Given the description of an element on the screen output the (x, y) to click on. 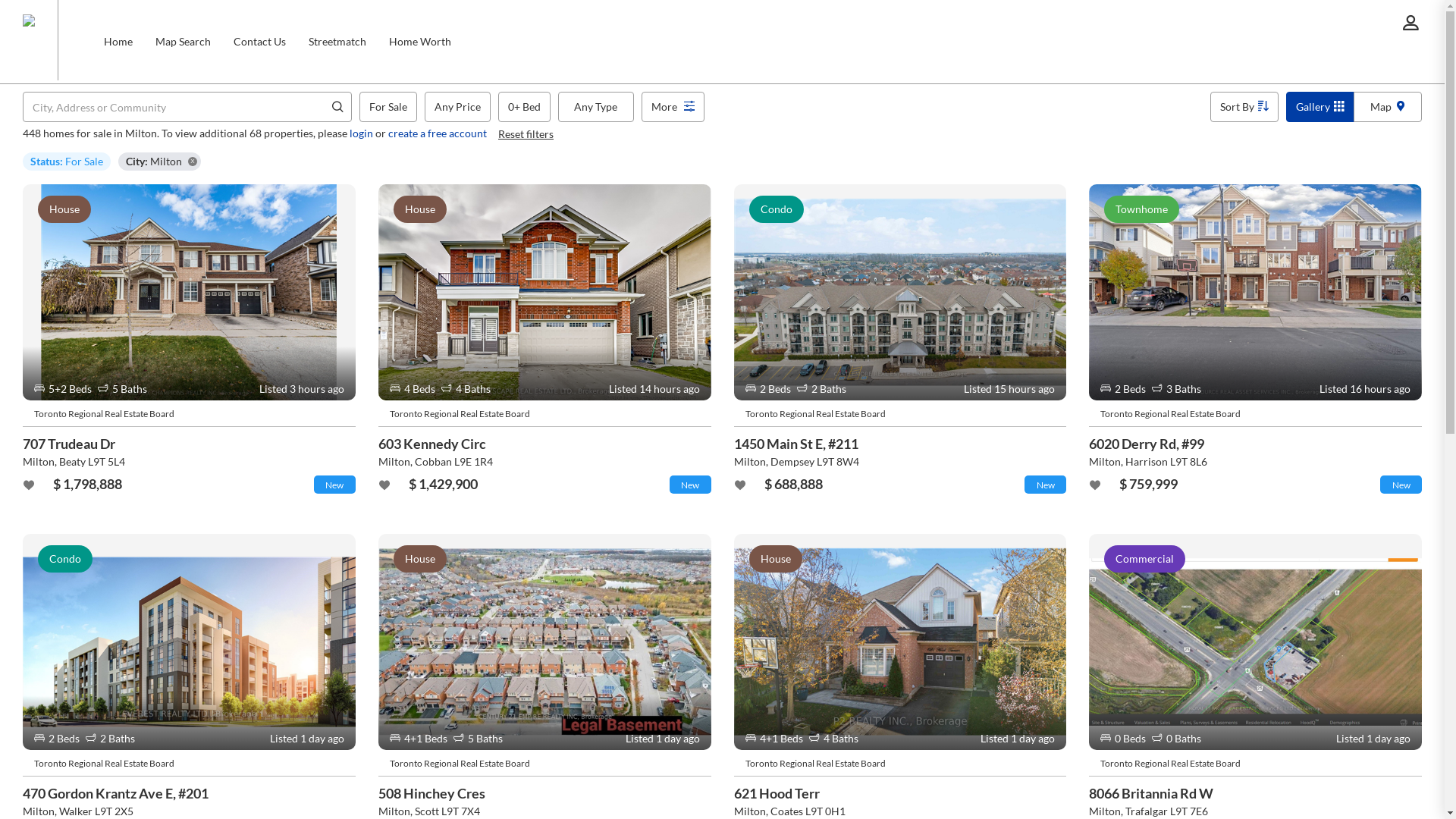
Home Worth Element type: text (419, 41)
Map Element type: text (1387, 106)
0+ Bed Element type: text (524, 106)
Reset filters Element type: text (525, 133)
Any Price Element type: text (457, 106)
Any Type Element type: text (595, 106)
Map Search Element type: text (183, 41)
Contact Us Element type: text (259, 41)
Sort By Element type: text (1244, 106)
More Element type: text (672, 106)
Gallery Element type: text (1320, 106)
Home Element type: text (118, 41)
For Sale Element type: text (388, 106)
Streetmatch Element type: text (337, 41)
